Given the description of an element on the screen output the (x, y) to click on. 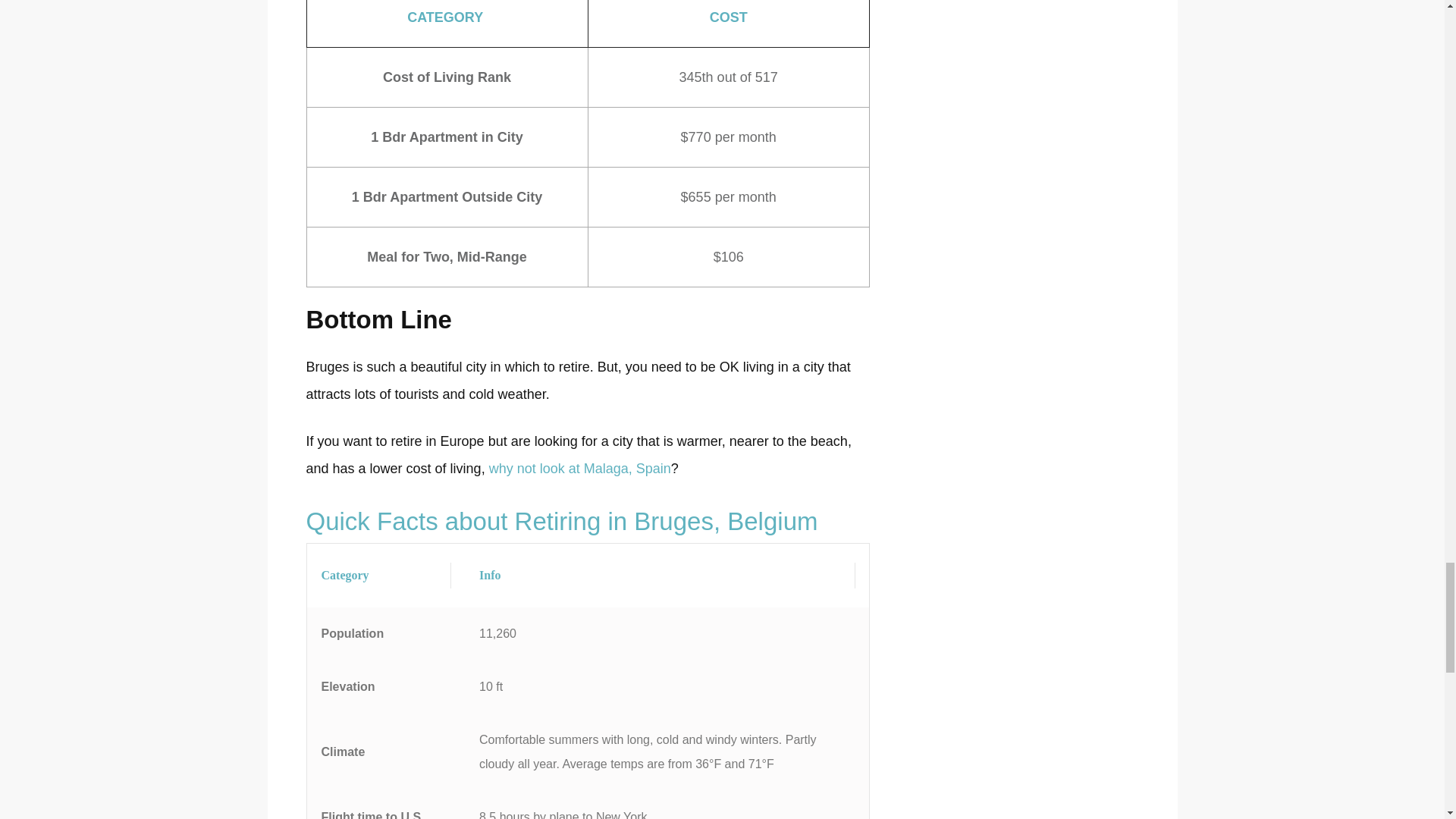
why not look at Malaga, Spain (580, 468)
